Given the description of an element on the screen output the (x, y) to click on. 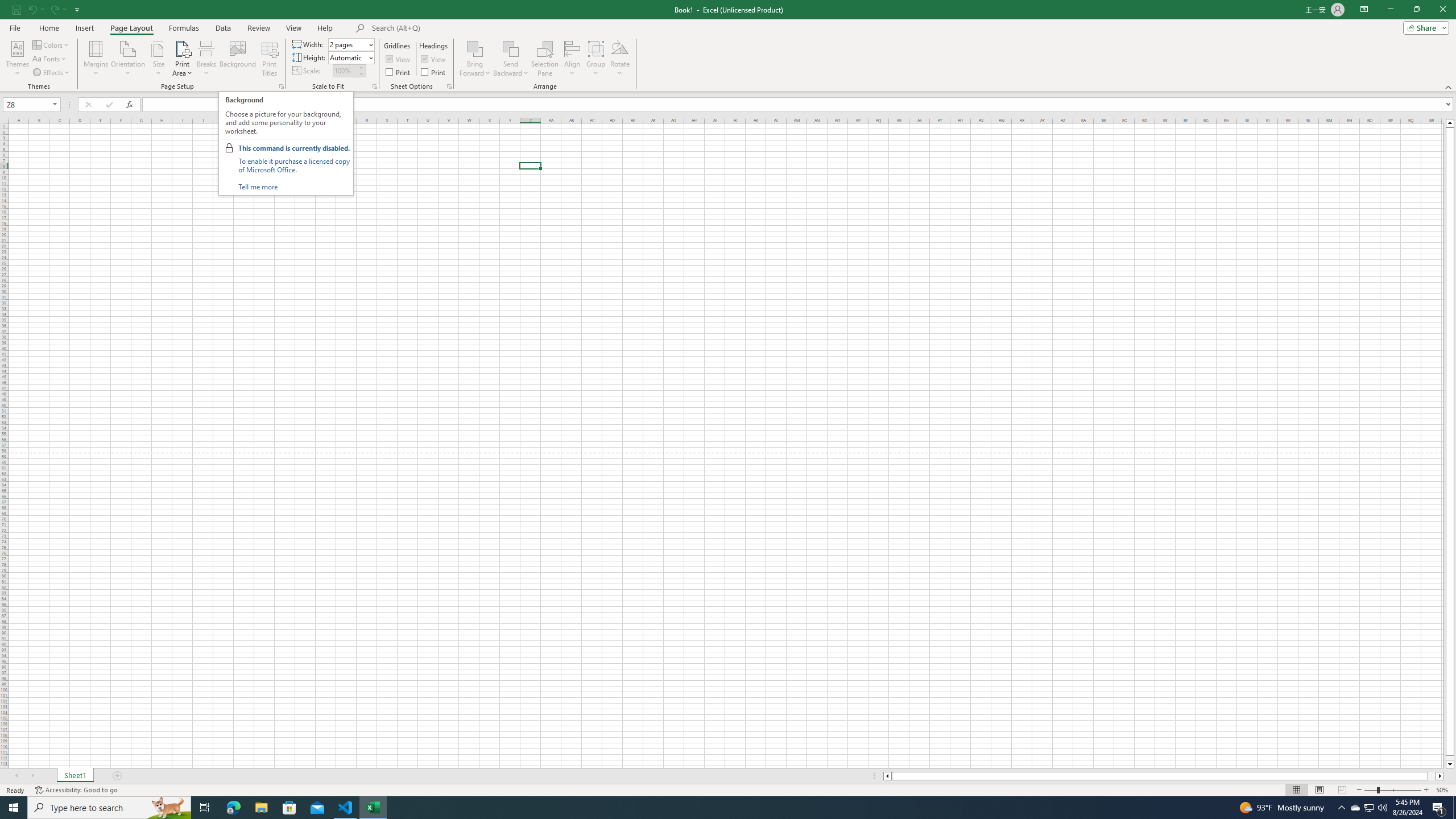
Print (434, 71)
Scale (344, 70)
Breaks (206, 58)
